Given the description of an element on the screen output the (x, y) to click on. 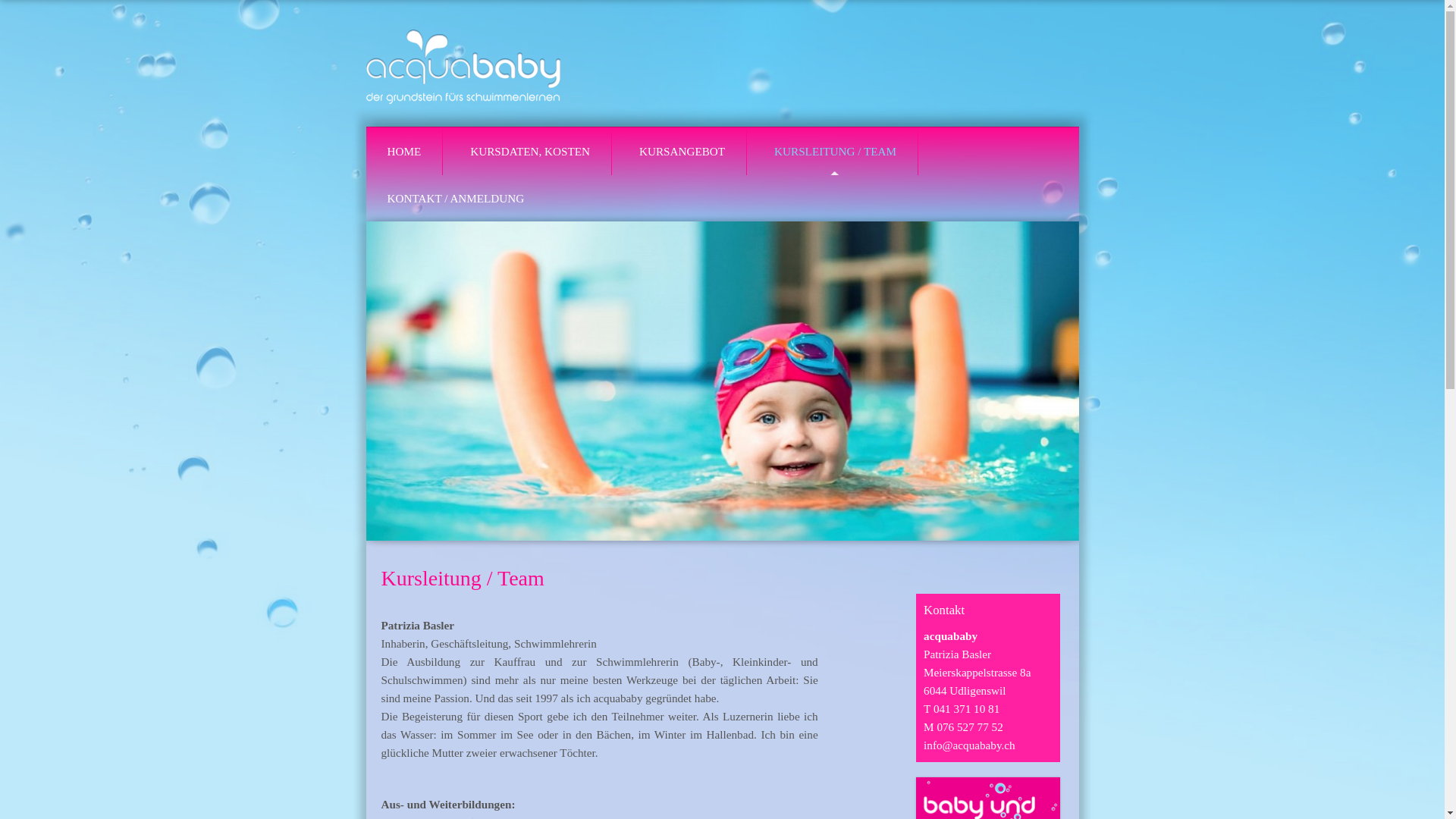
KONTAKT / ANMELDUNG Element type: text (455, 198)
HOME Element type: text (403, 151)
KURSLEITUNG / TEAM Element type: text (835, 151)
Kursleitung / Team Element type: text (461, 577)
reVision Element type: hover (462, 62)
info@acquababy.ch Element type: text (969, 744)
IStock_000013096126Medium Element type: hover (721, 380)
KURSDATEN, KOSTEN Element type: text (530, 151)
KURSANGEBOT Element type: text (682, 151)
